Given the description of an element on the screen output the (x, y) to click on. 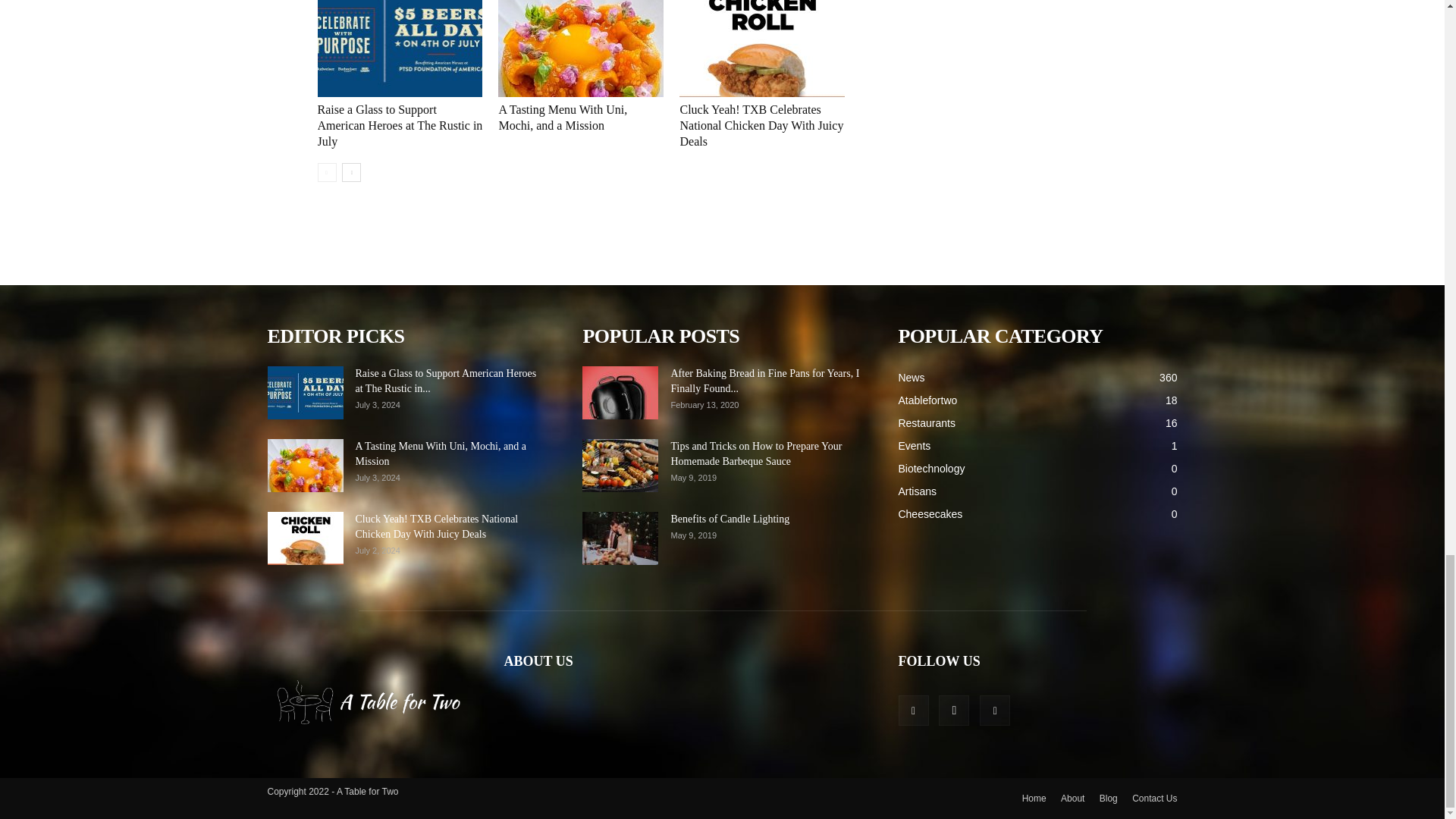
A Tasting Menu With Uni, Mochi, and a Mission (562, 117)
A Tasting Menu With Uni, Mochi, and a Mission (580, 48)
